Given the description of an element on the screen output the (x, y) to click on. 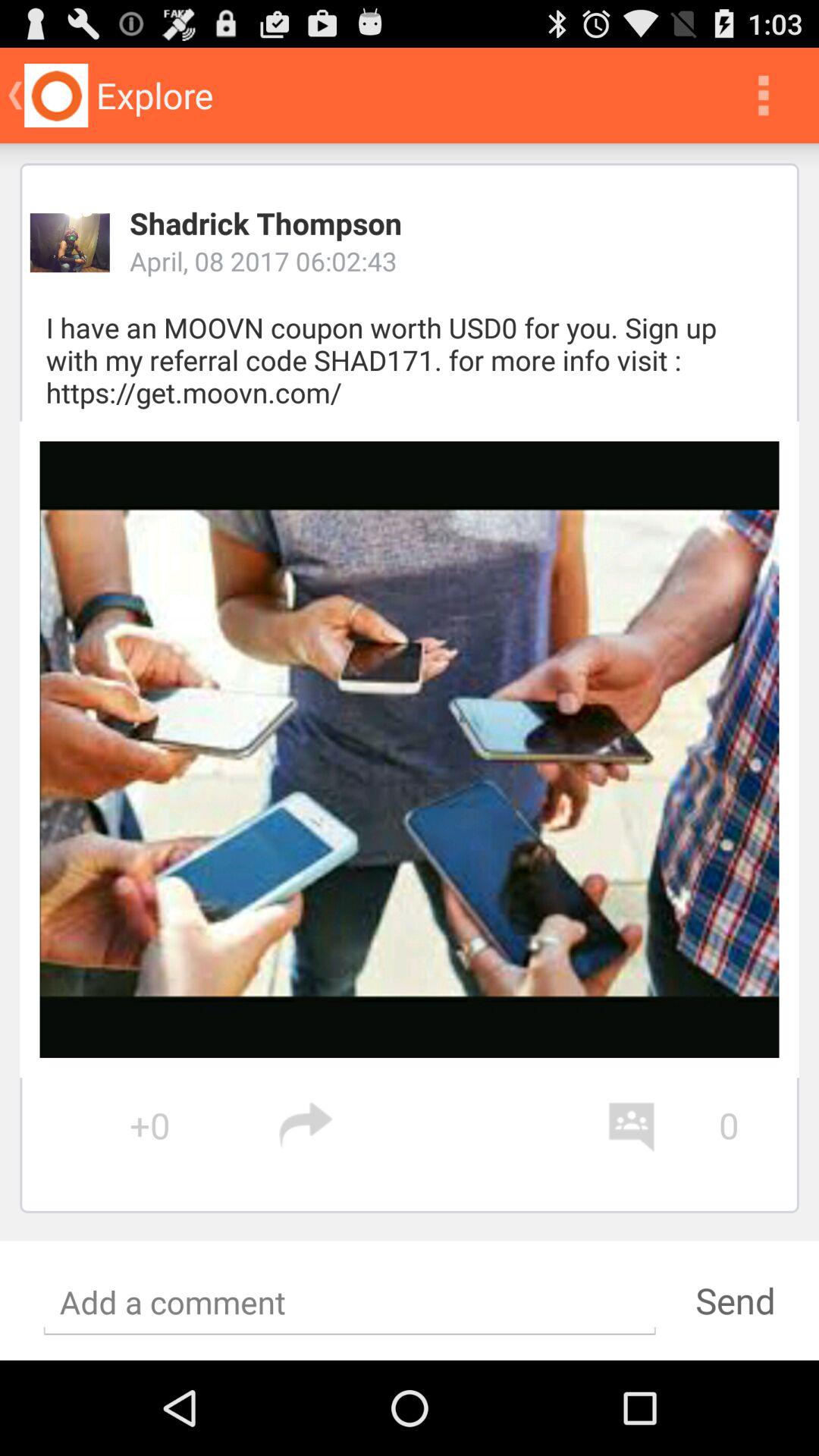
tap app below i have an app (409, 749)
